Given the description of an element on the screen output the (x, y) to click on. 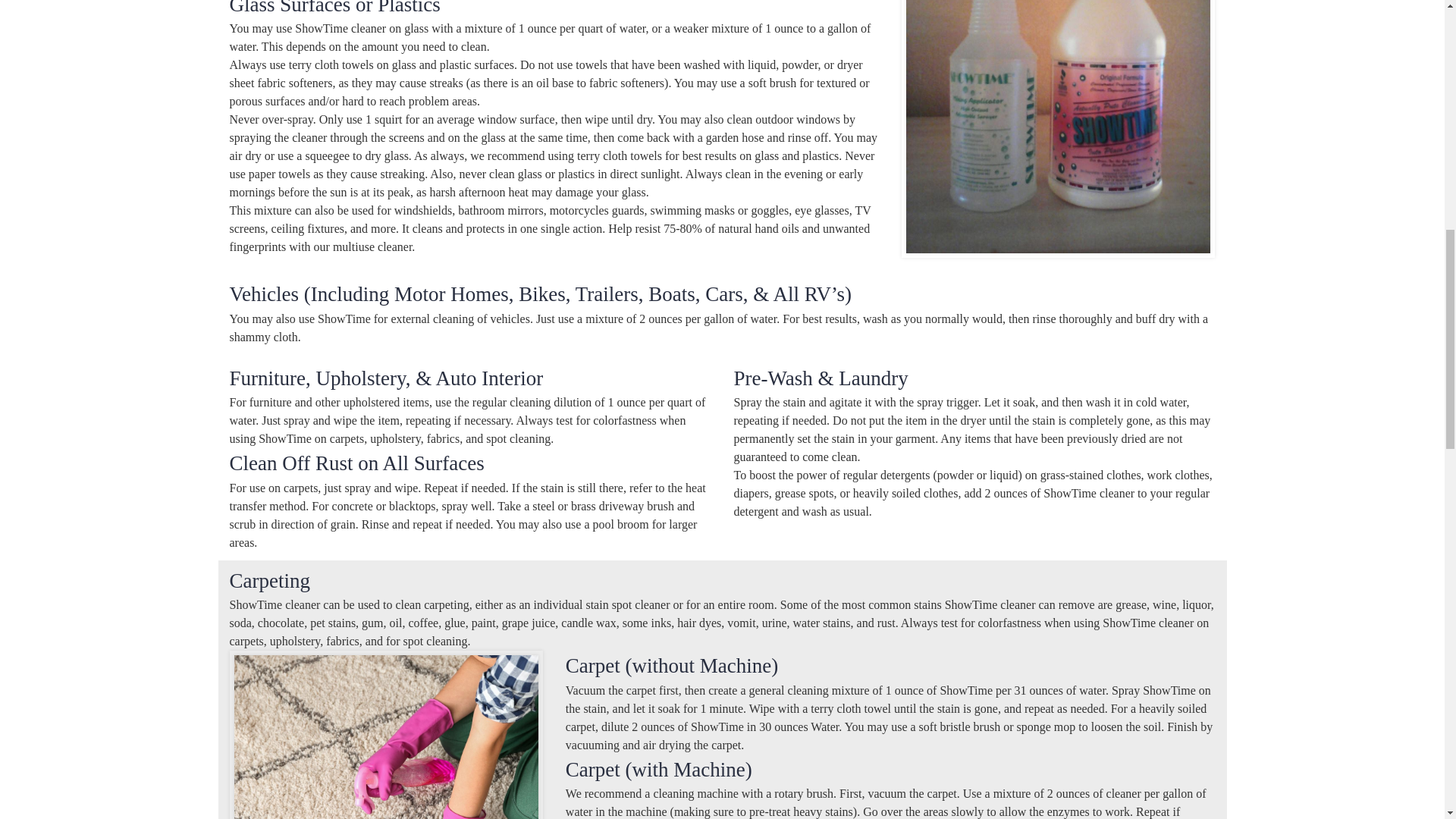
clean-carpet (384, 737)
